Given the description of an element on the screen output the (x, y) to click on. 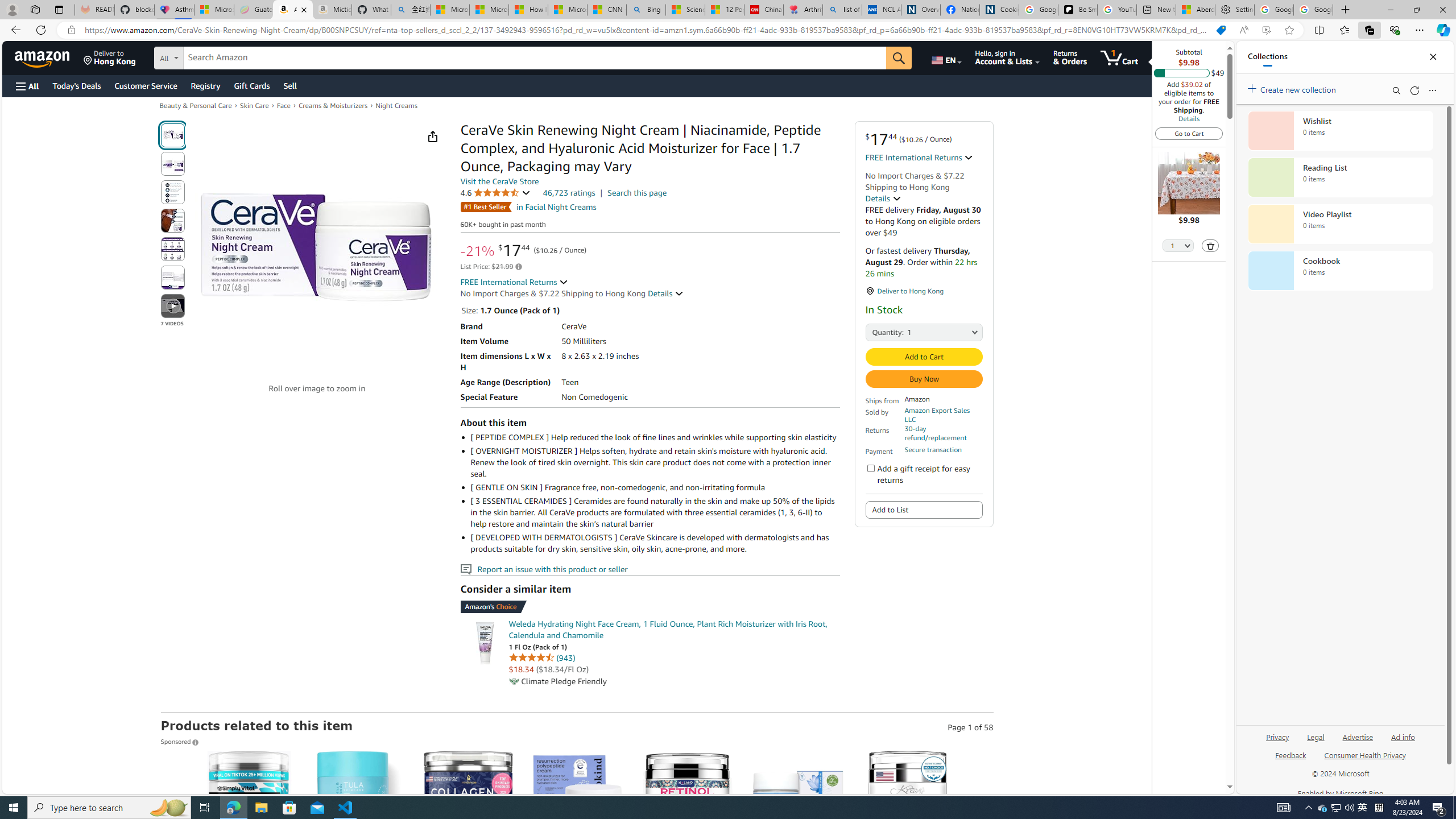
Sell (290, 85)
Search in (210, 56)
Shopping in Microsoft Edge (1220, 29)
How I Got Rid of Microsoft Edge's Unnecessary Features (528, 9)
Ad info (1402, 736)
Creams & Moisturizers (333, 105)
Advertise (1358, 741)
Search Amazon (534, 57)
Bing (646, 9)
Delete (1210, 245)
Cookbook collection, 0 items (1339, 270)
FREE International Returns  (514, 281)
